Given the description of an element on the screen output the (x, y) to click on. 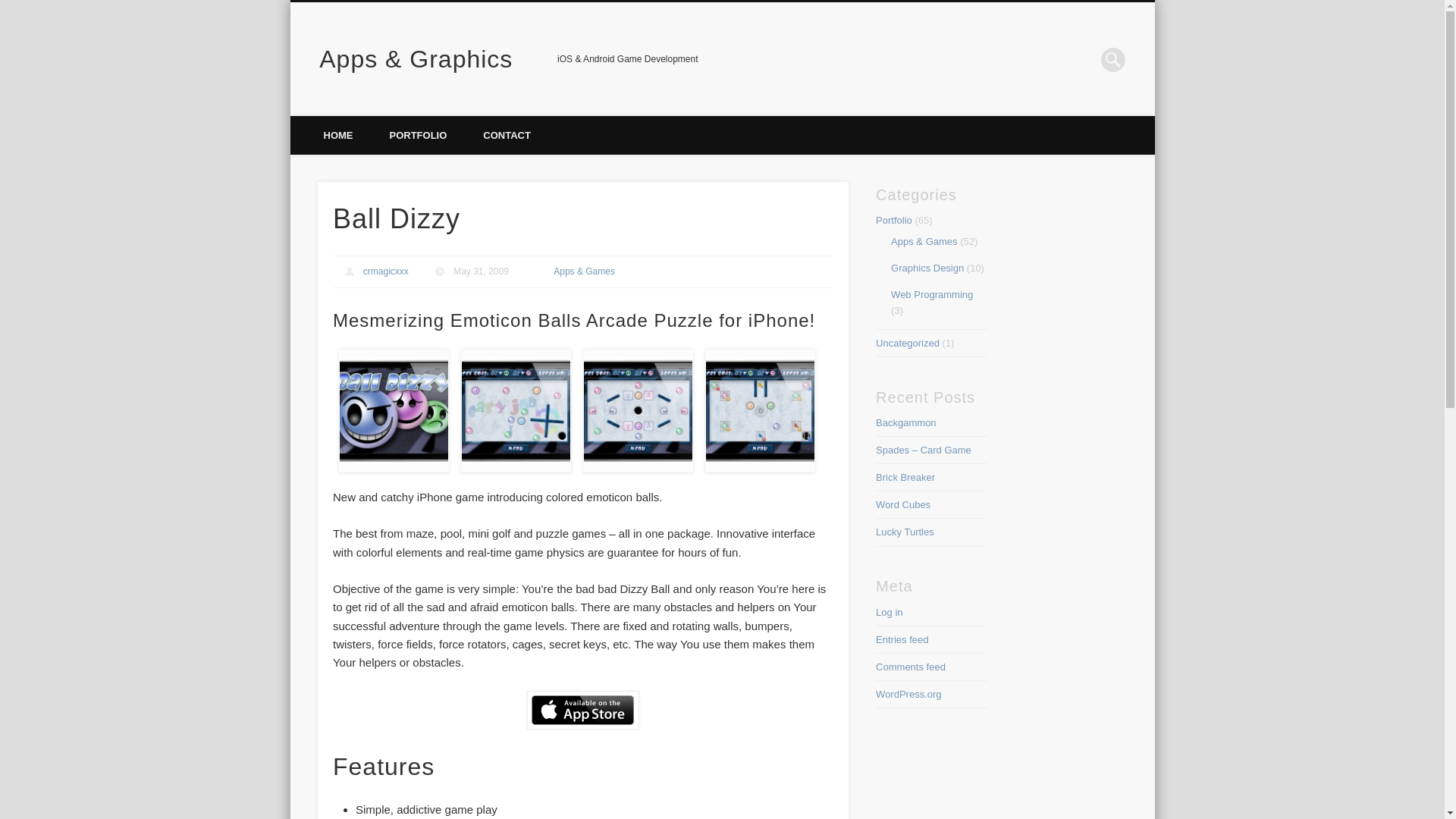
Graphics Design (927, 267)
Uncategorized (907, 342)
crmagicxxx (385, 271)
Portfolio (894, 220)
Comments feed (910, 666)
Posts by crmagicxxx (385, 271)
WordPress.org (908, 694)
CONTACT (506, 135)
Backgammon (906, 422)
Entries feed (902, 639)
